Given the description of an element on the screen output the (x, y) to click on. 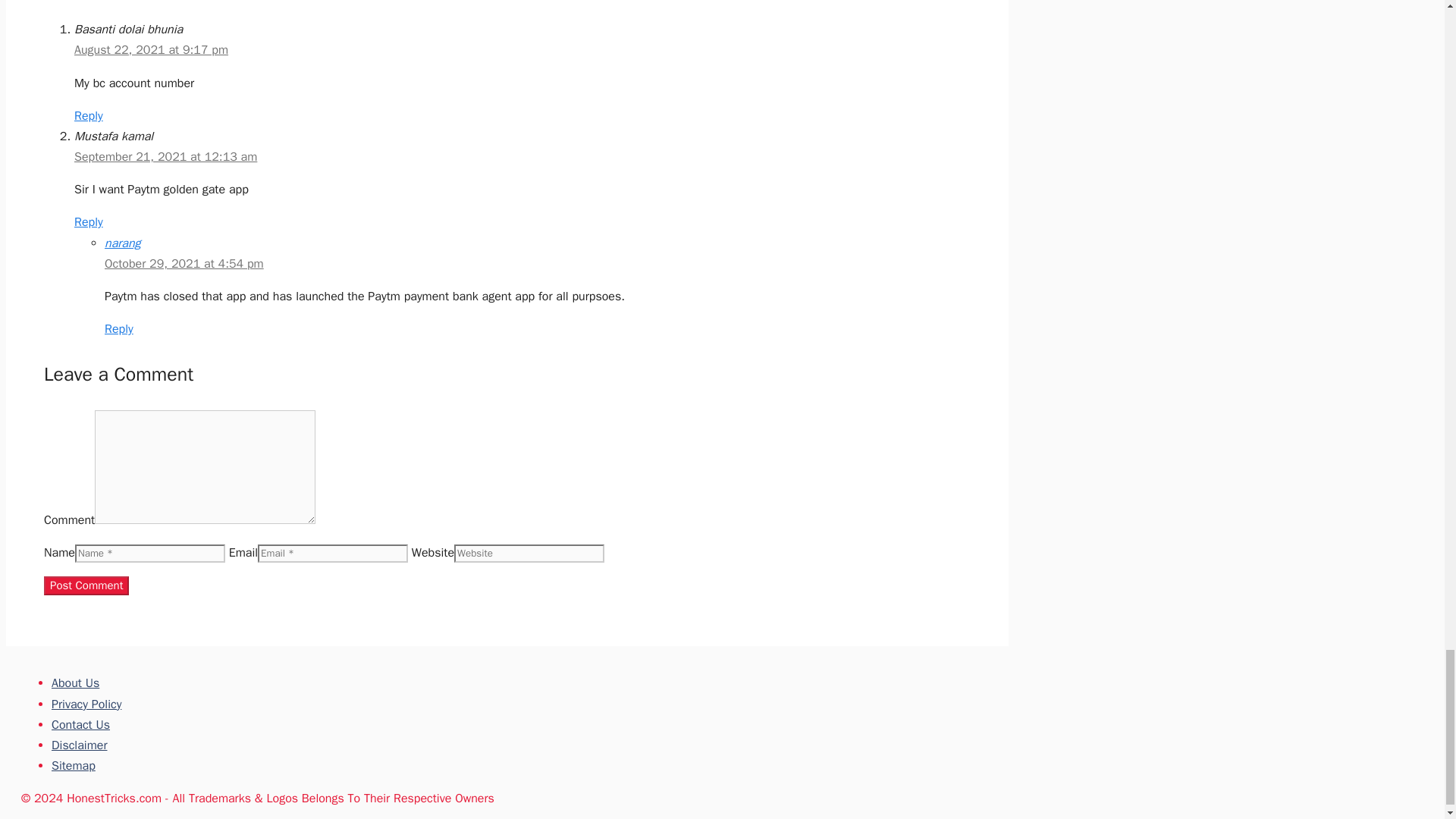
Reply (88, 115)
August 22, 2021 at 9:17 pm (151, 49)
September 21, 2021 at 12:13 am (165, 156)
Reply (118, 328)
Reply (88, 222)
narang (122, 242)
Post Comment (86, 585)
Post Comment (86, 585)
October 29, 2021 at 4:54 pm (183, 263)
